Given the description of an element on the screen output the (x, y) to click on. 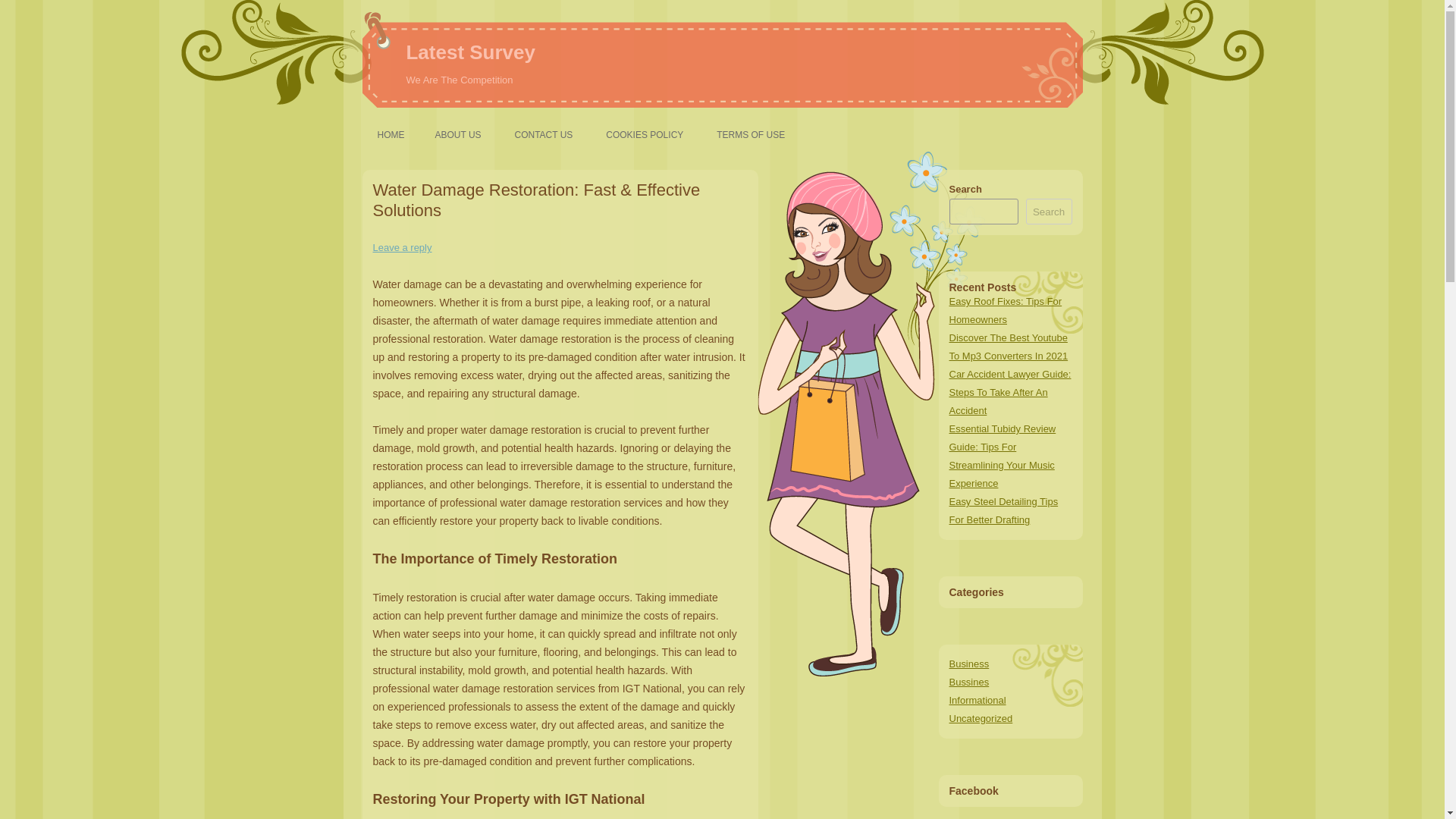
Easy Roof Fixes: Tips For Homeowners (1005, 310)
Easy Steel Detailing Tips For Better Drafting (1003, 510)
Search (1048, 211)
Business (969, 663)
Latest Survey (470, 53)
COOKIES POLICY (643, 134)
ABOUT US (456, 134)
Leave a reply (402, 247)
Bussines (969, 681)
